Given the description of an element on the screen output the (x, y) to click on. 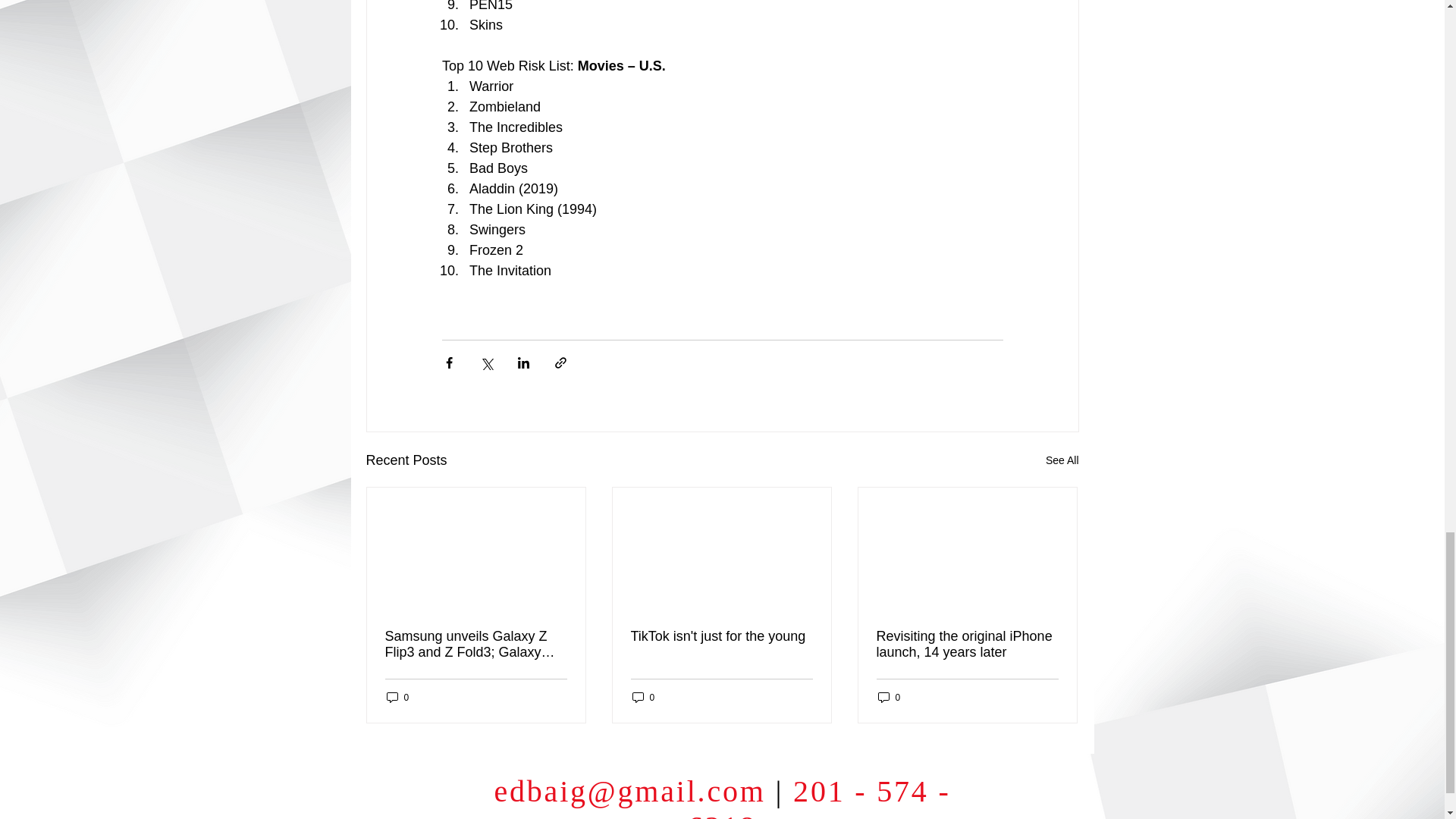
0 (889, 697)
TikTok isn't just for the young (721, 636)
0 (643, 697)
0 (397, 697)
See All (1061, 460)
Revisiting the original iPhone launch, 14 years later (967, 644)
201 - 574 - 6218 (818, 796)
